Given the description of an element on the screen output the (x, y) to click on. 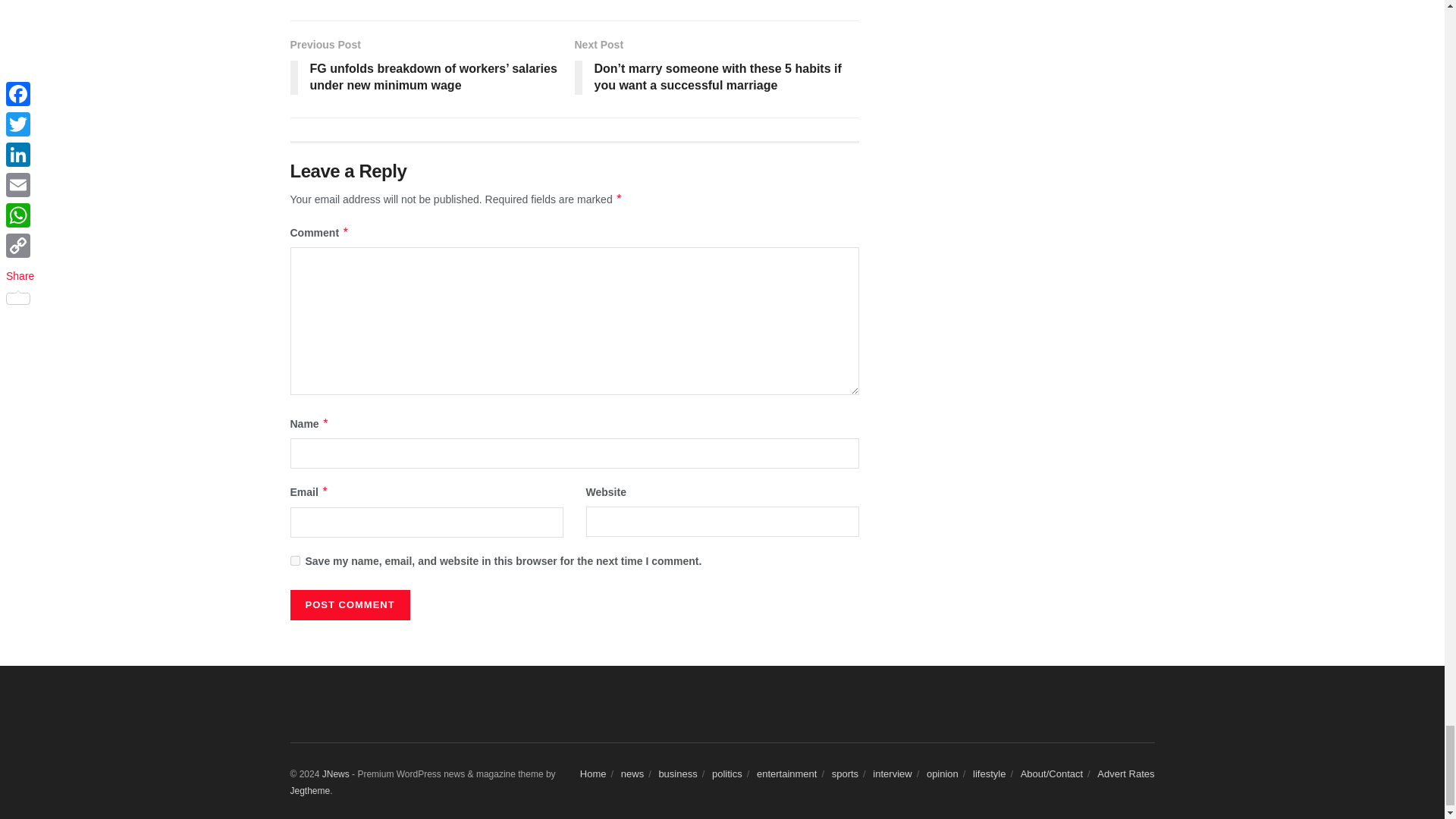
Jegtheme (309, 790)
Post Comment (349, 604)
yes (294, 560)
